Given the description of an element on the screen output the (x, y) to click on. 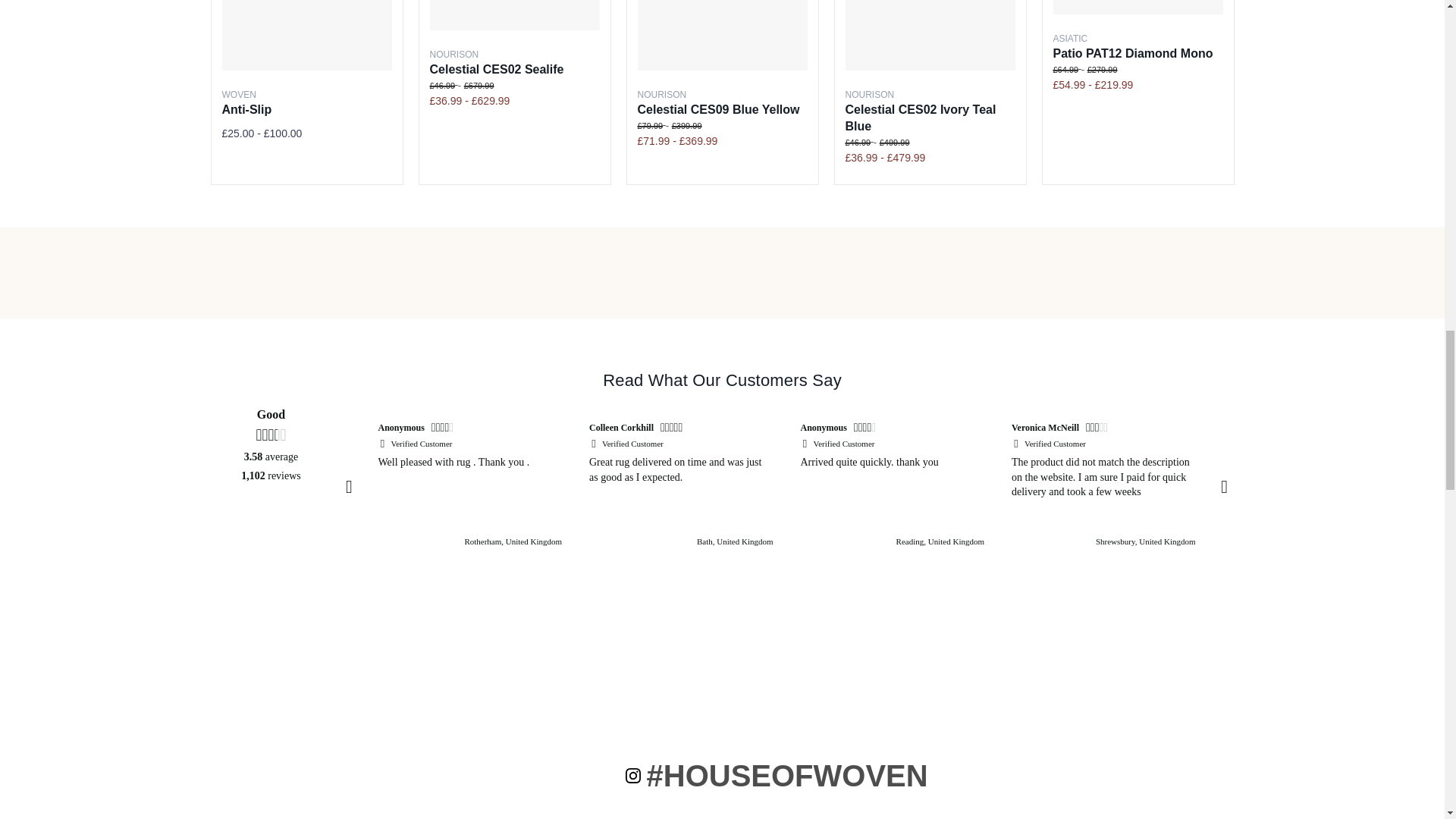
5 Stars (1288, 429)
Nourison (868, 94)
Asiatic (1069, 38)
Woven (238, 94)
4 Stars (443, 429)
Nourison (661, 94)
Read more reviews on REVIEWS.io (271, 532)
4 Stars (866, 429)
3.58 Stars (270, 434)
Nourison (454, 54)
3 Stars (1099, 429)
5 Stars (673, 429)
